Given the description of an element on the screen output the (x, y) to click on. 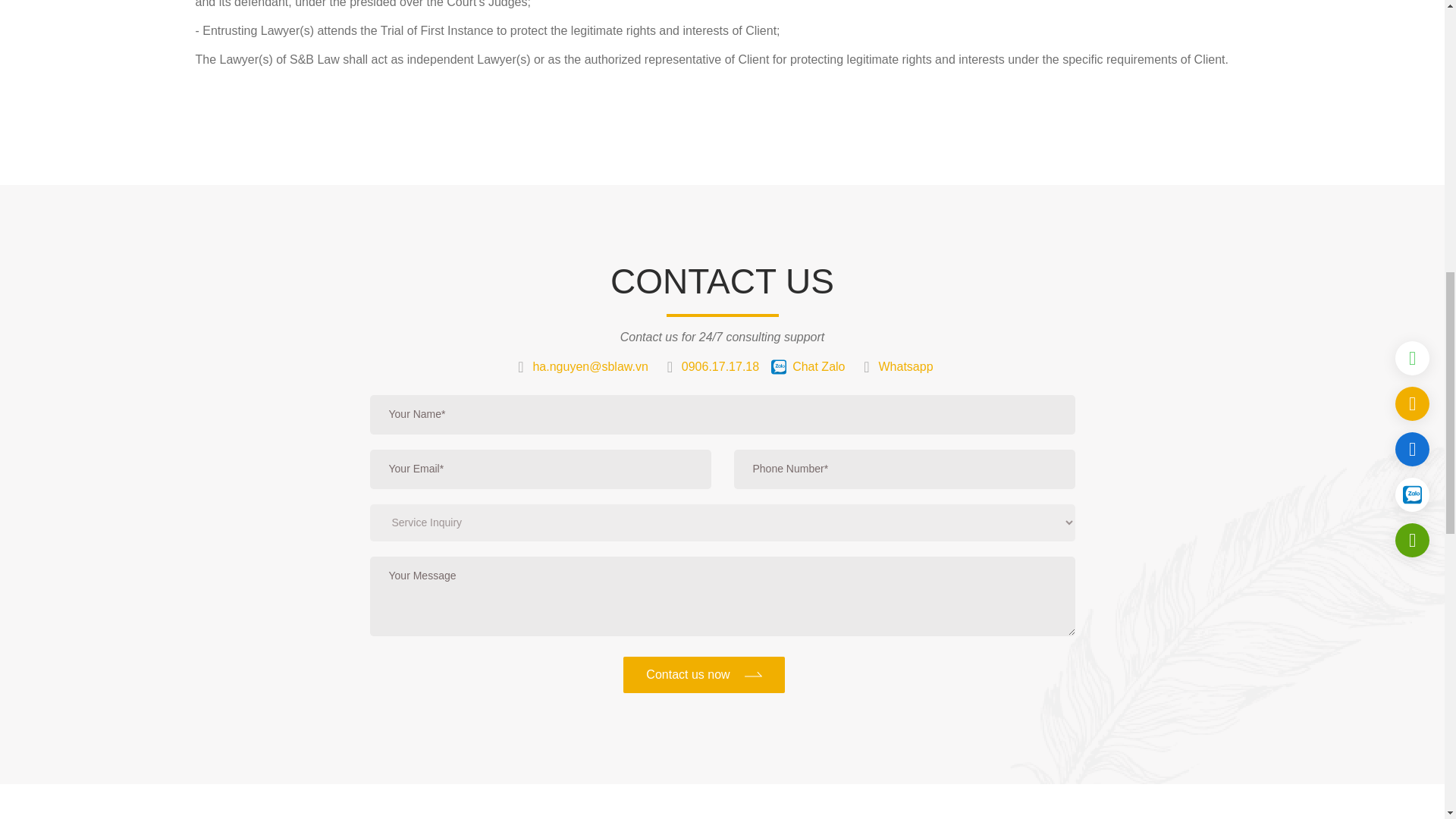
Contact us now (703, 674)
